Given the description of an element on the screen output the (x, y) to click on. 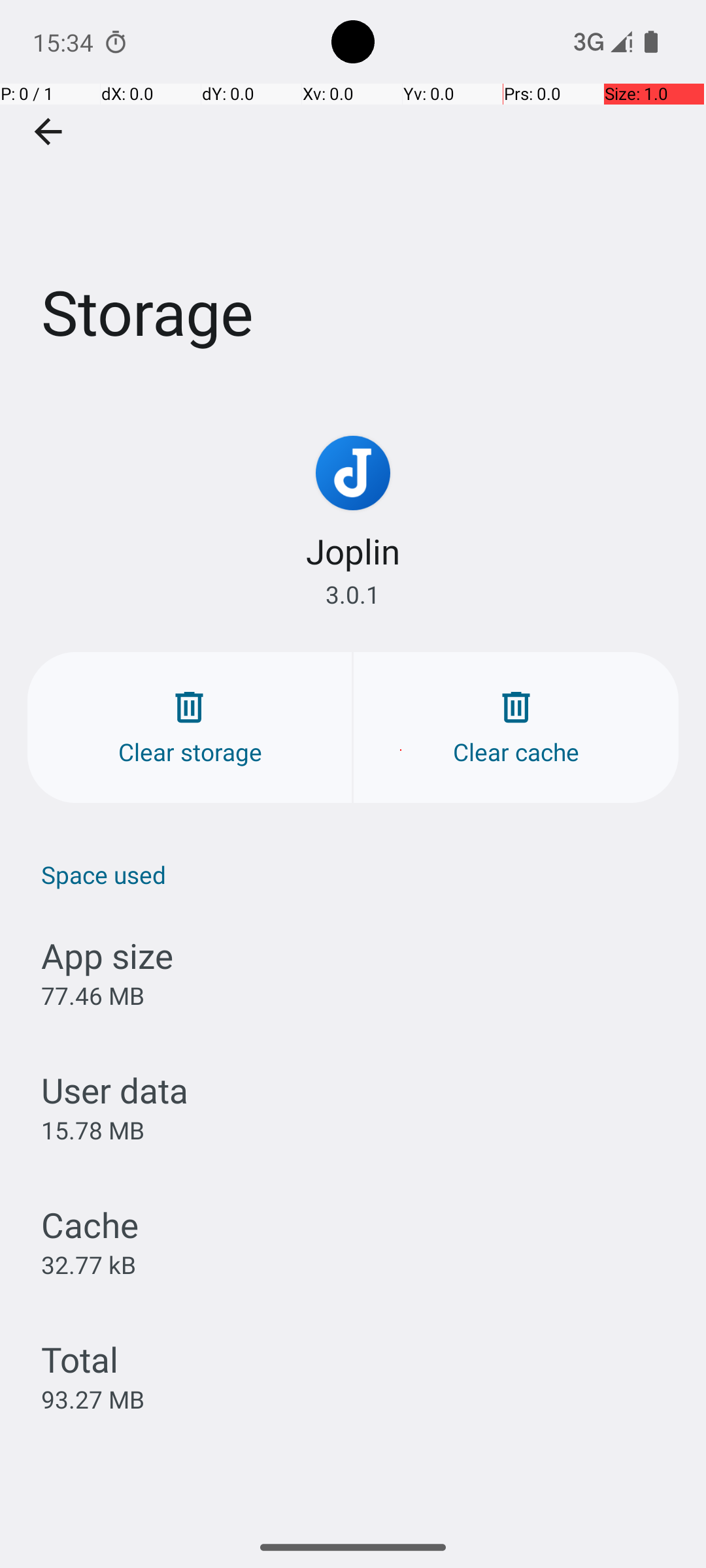
3.0.1 Element type: android.widget.TextView (352, 593)
77.46 MB Element type: android.widget.TextView (92, 995)
15.78 MB Element type: android.widget.TextView (92, 1129)
32.77 kB Element type: android.widget.TextView (88, 1264)
93.27 MB Element type: android.widget.TextView (92, 1398)
